Given the description of an element on the screen output the (x, y) to click on. 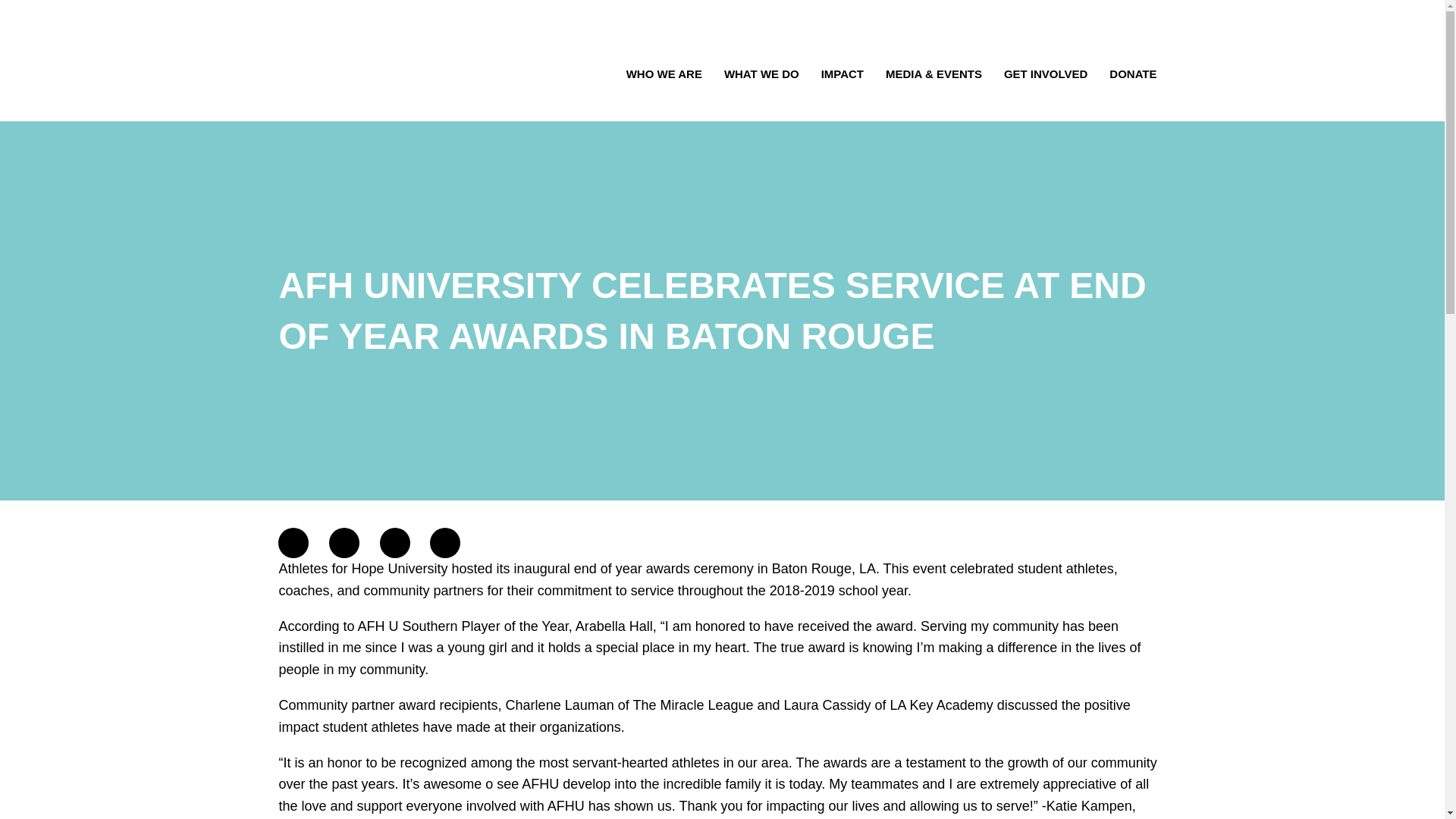
IMPACT (842, 75)
Athletes for Hope (326, 66)
WHO WE ARE (664, 75)
WHAT WE DO (761, 75)
GET INVOLVED (1045, 75)
